Given the description of an element on the screen output the (x, y) to click on. 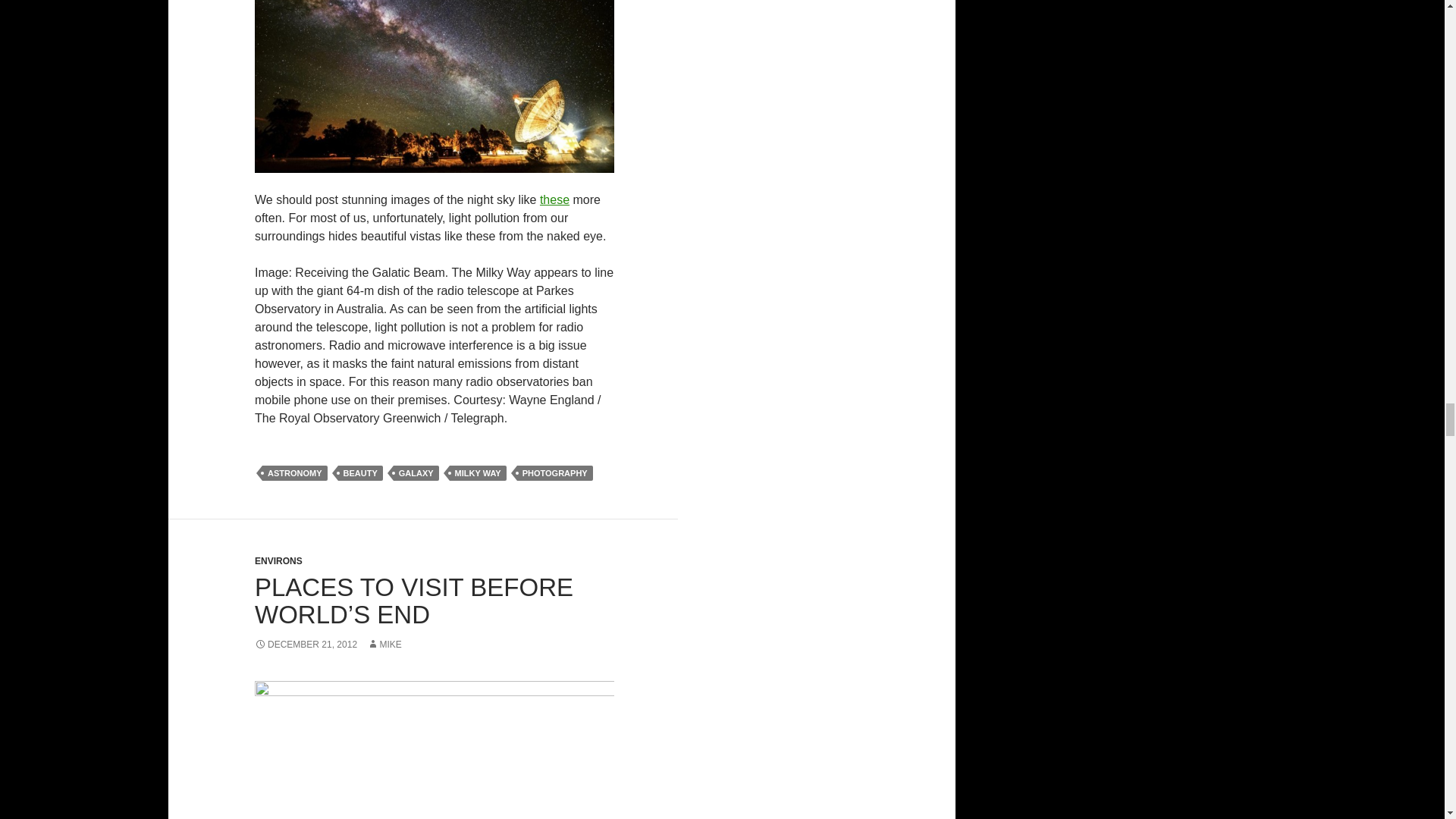
Lapland for the northern lights  (434, 749)
The 2013 Astronomy Photographer of the Year competition (554, 199)
